Given the description of an element on the screen output the (x, y) to click on. 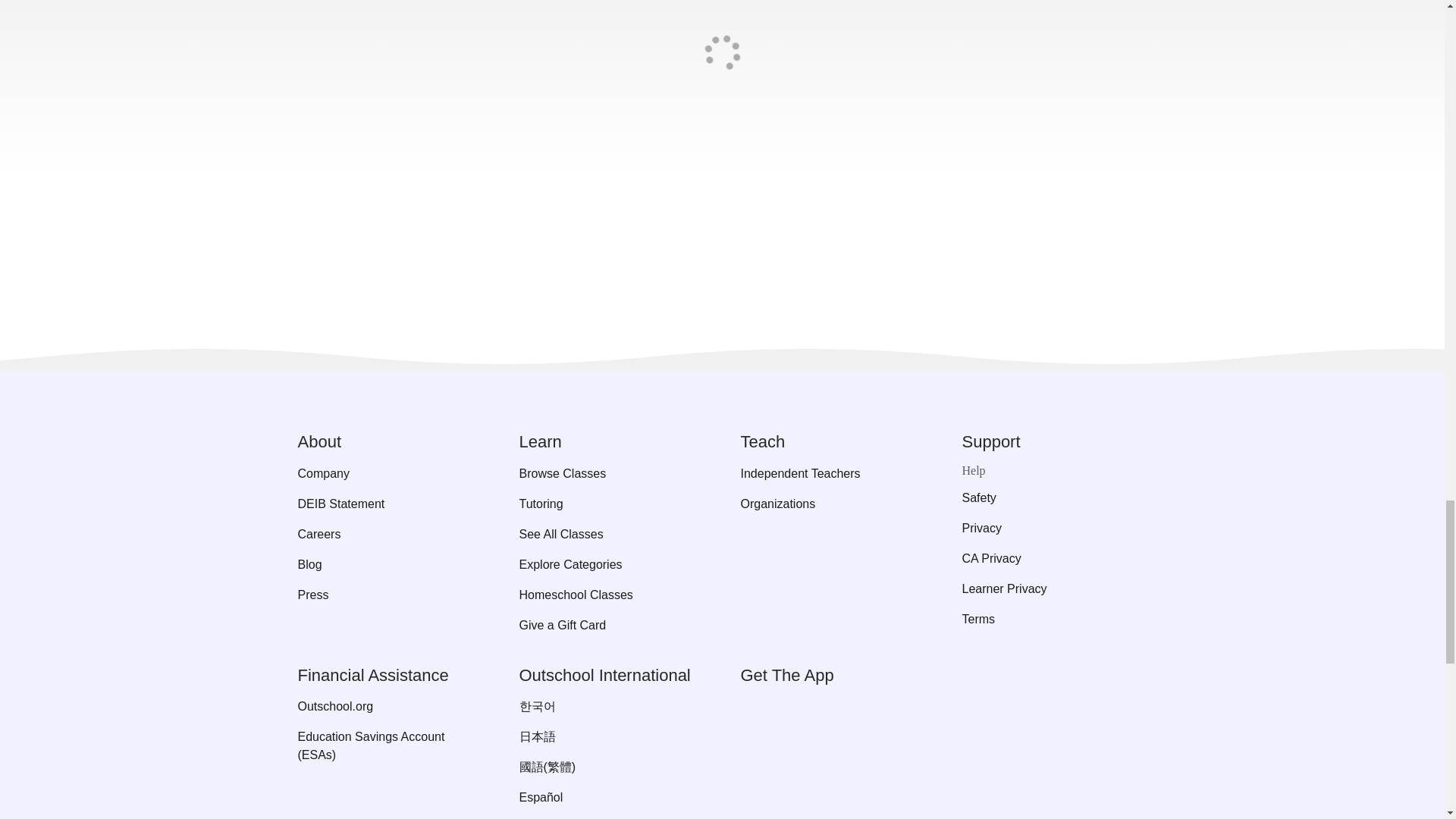
Browse Classes (610, 474)
Safety (1053, 497)
CA Privacy (1053, 558)
Terms (1053, 619)
Outschool.org (389, 706)
Company (389, 474)
Help (1053, 470)
Careers (389, 534)
Blog (389, 565)
Privacy (1053, 528)
